Given the description of an element on the screen output the (x, y) to click on. 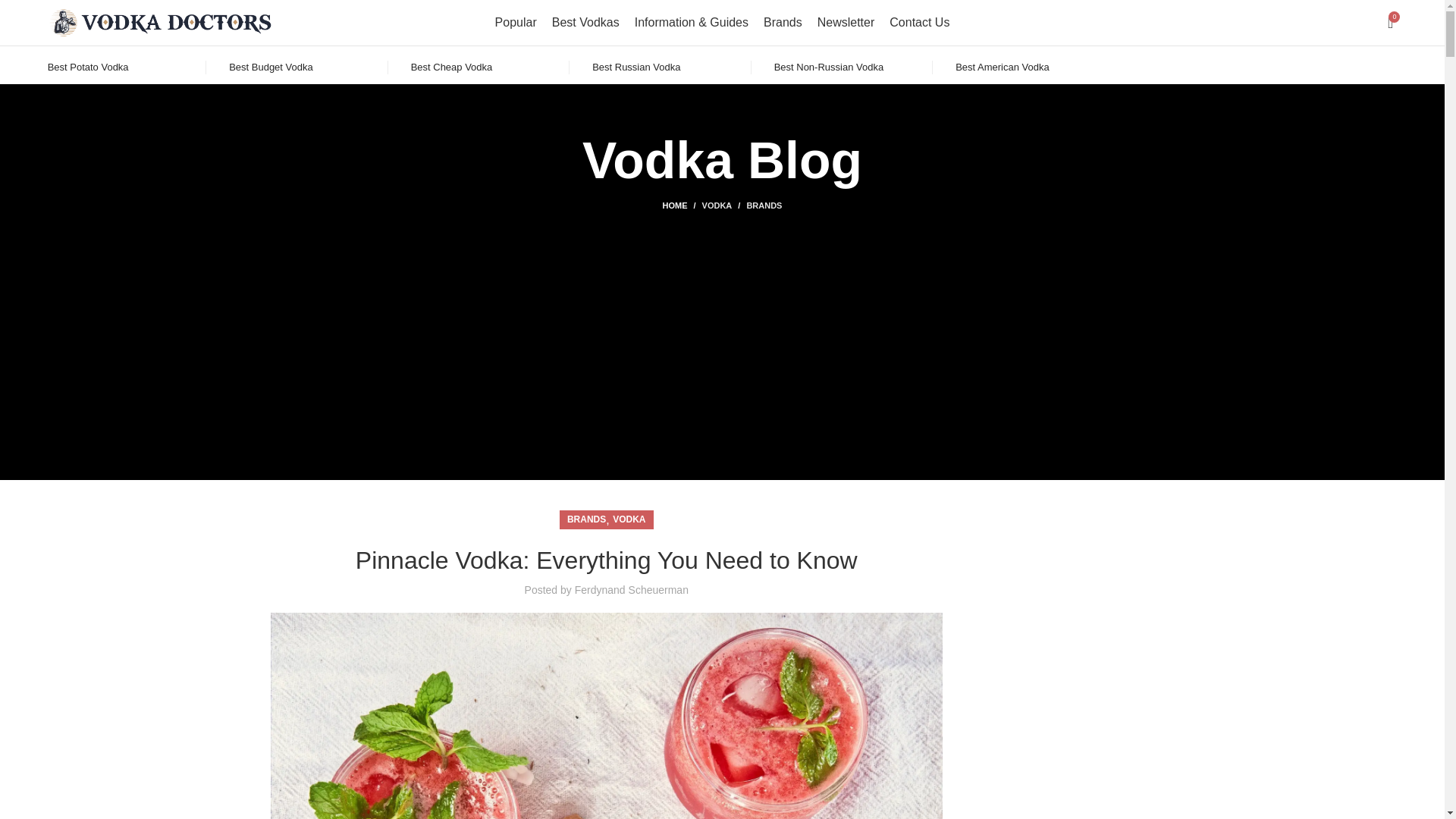
Best Vodkas (585, 22)
Popular (515, 22)
HOME (681, 205)
Best Non-Russian Vodka (828, 66)
Brands (782, 22)
Best Budget Vodka (270, 66)
Best American Vodka (1002, 66)
BRANDS (763, 204)
Best Cheap Vodka (451, 66)
Best Russian Vodka (635, 66)
Contact Us (919, 22)
Ferdynand Scheuerman (631, 589)
VODKA (716, 204)
VODKA (628, 519)
